Given the description of an element on the screen output the (x, y) to click on. 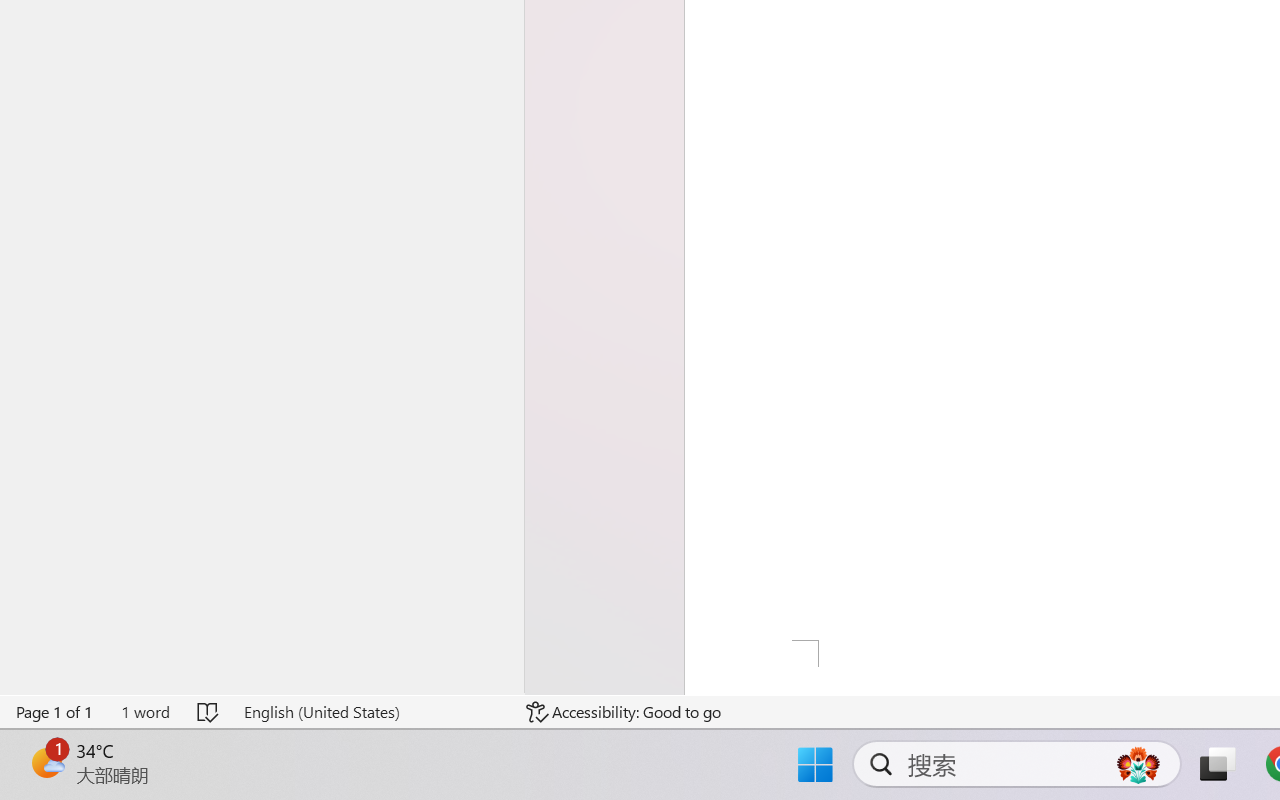
AutomationID: DynamicSearchBoxGleamImage (1138, 764)
Accessibility Checker Accessibility: Good to go (623, 712)
Word Count 1 word (145, 712)
Spelling and Grammar Check No Errors (208, 712)
AutomationID: BadgeAnchorLargeTicker (46, 762)
Language English (United States) (370, 712)
Page Number Page 1 of 1 (55, 712)
